Given the description of an element on the screen output the (x, y) to click on. 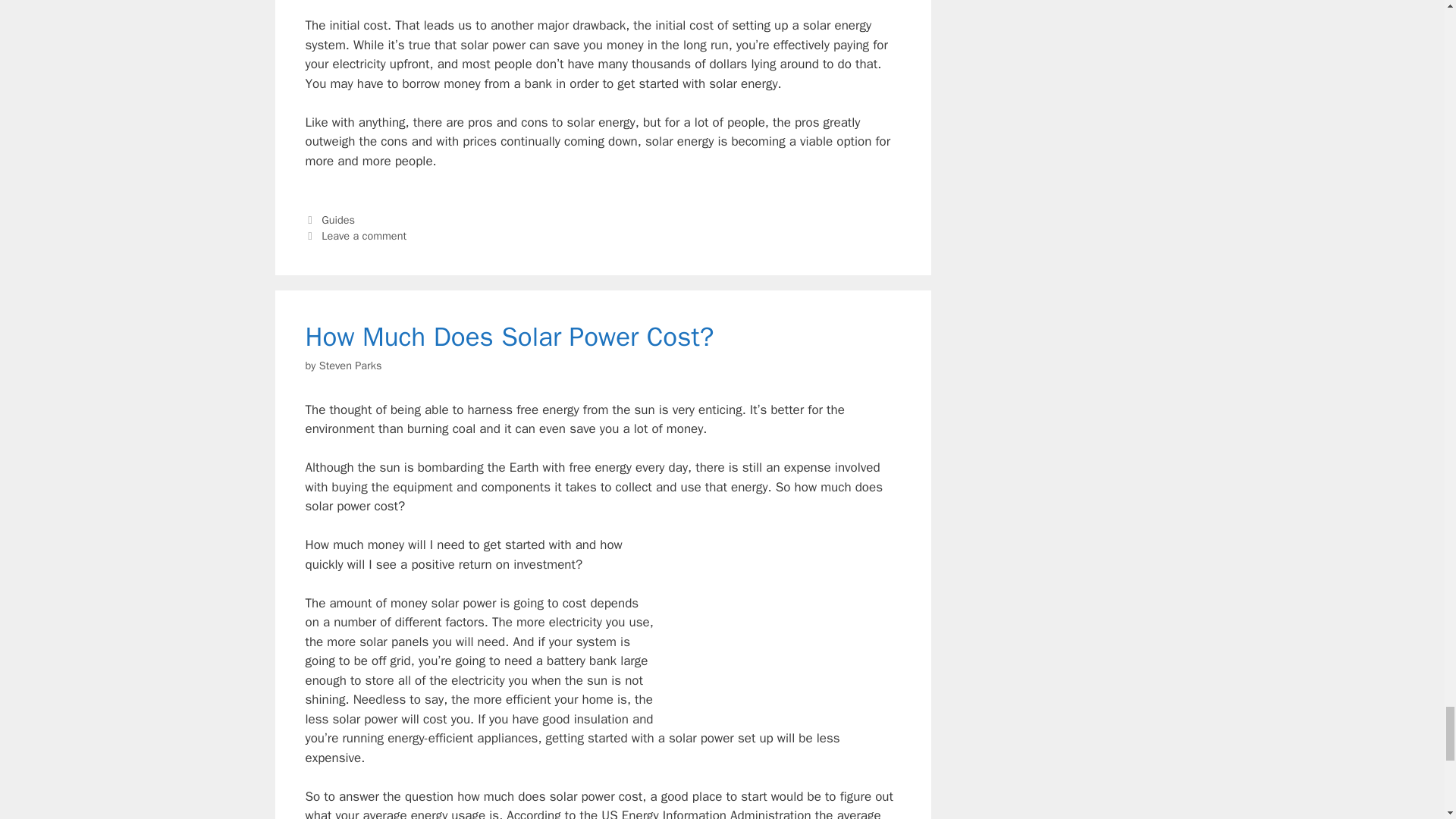
View all posts by Steven Parks (349, 365)
